Given the description of an element on the screen output the (x, y) to click on. 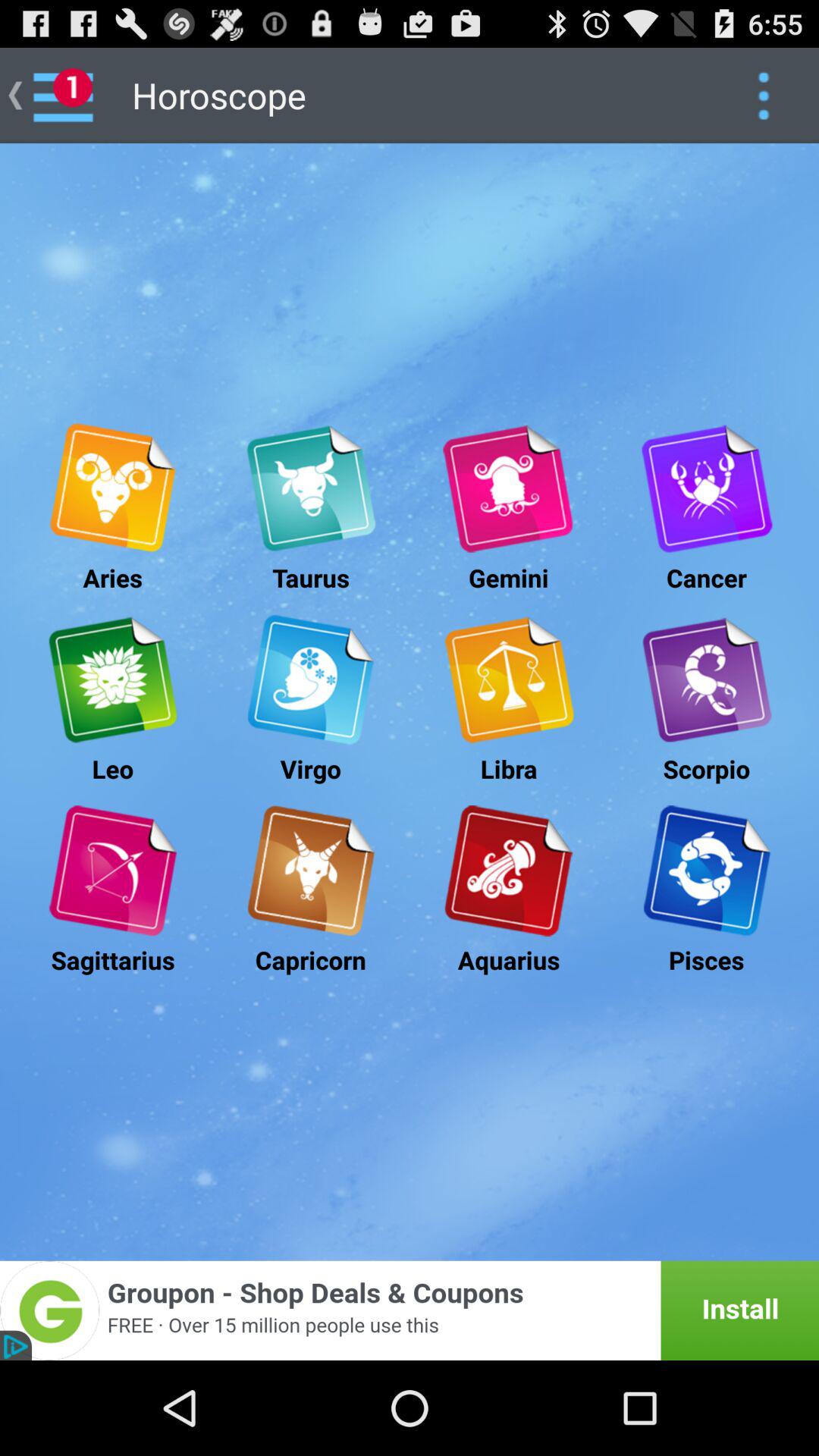
numerlogy sympols to kumbapam rasi (508, 870)
